Given the description of an element on the screen output the (x, y) to click on. 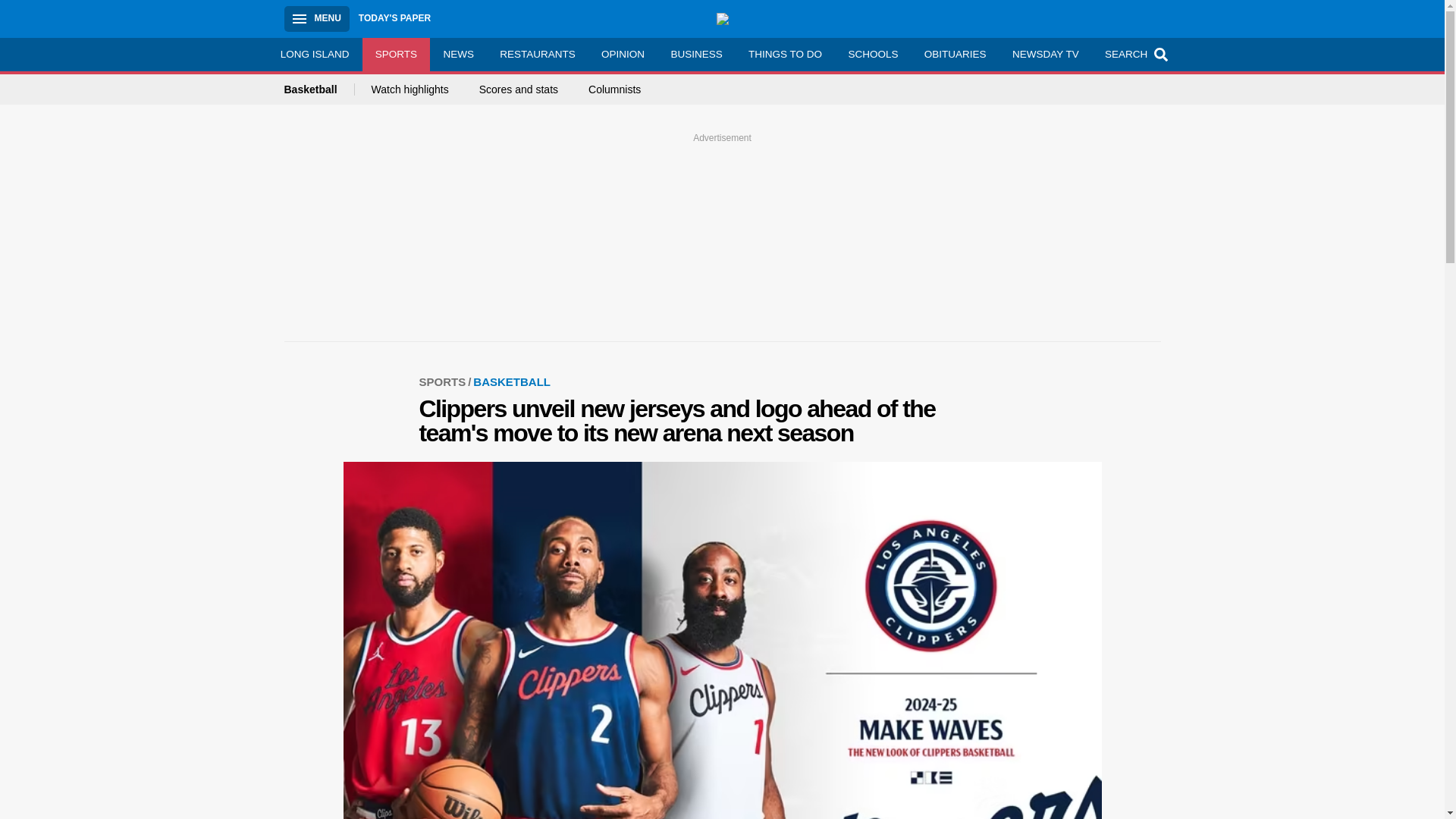
LONG ISLAND (313, 54)
NEWS (457, 54)
SEARCH (1134, 54)
Watch highlights (409, 89)
NEWSDAY TV (1045, 54)
Scores and stats (518, 89)
OPINION (623, 54)
OBITUARIES (954, 54)
Basketball (318, 89)
Columnists (614, 89)
MENU (316, 18)
SCHOOLS (872, 54)
SPORTS (446, 381)
BASKETBALL (511, 381)
SPORTS (396, 54)
